Given the description of an element on the screen output the (x, y) to click on. 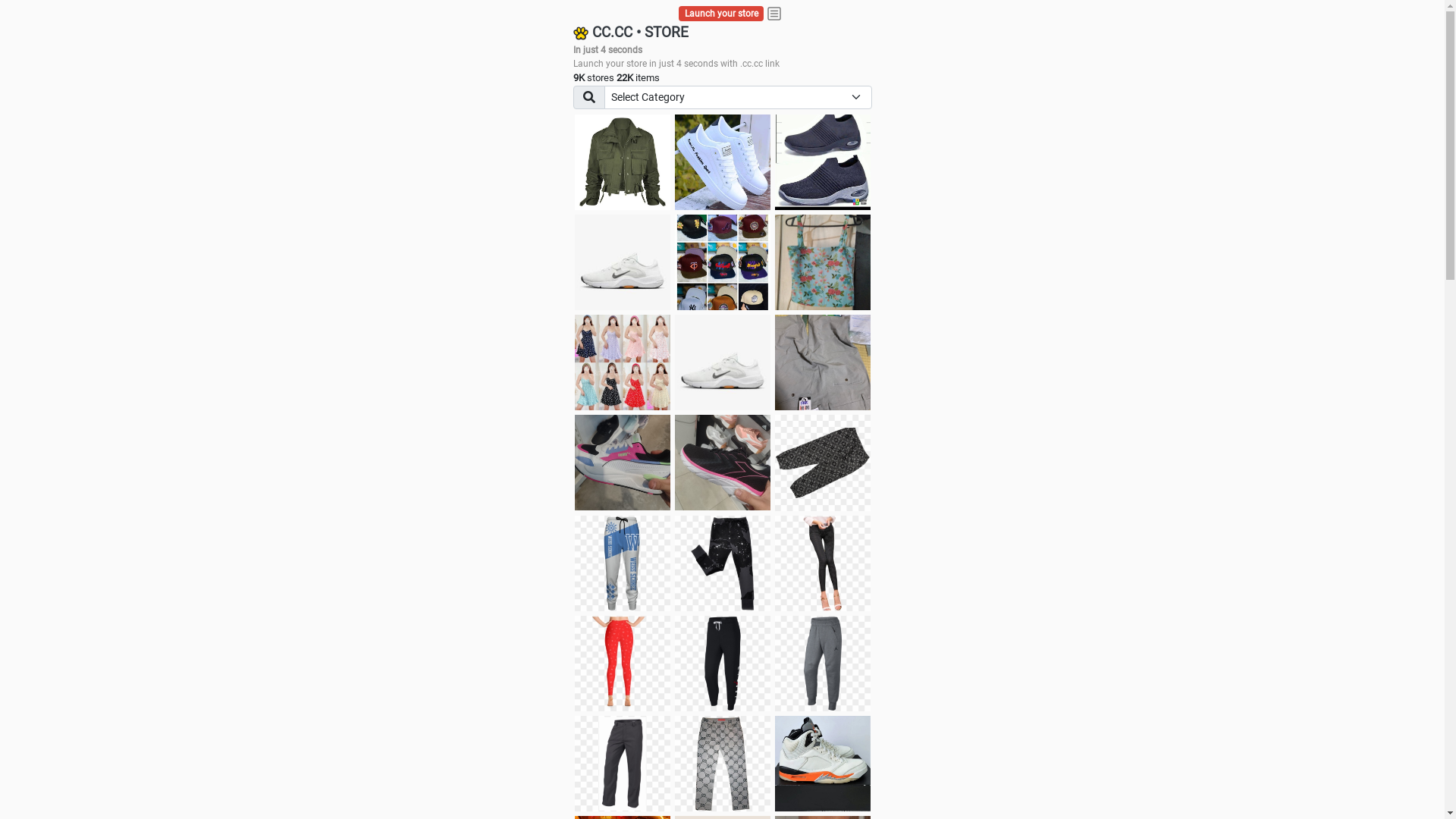
shoes for boys Element type: hover (822, 162)
Shoes for boys Element type: hover (622, 262)
Pant Element type: hover (822, 663)
Short pant Element type: hover (822, 462)
Pant Element type: hover (622, 663)
Shoes Element type: hover (722, 362)
Things we need Element type: hover (722, 262)
jacket Element type: hover (622, 162)
Pant Element type: hover (722, 763)
white shoes Element type: hover (722, 162)
Pant Element type: hover (722, 663)
Ukay cloth Element type: hover (822, 262)
Pant Element type: hover (822, 563)
Pant Element type: hover (722, 563)
Shoe Element type: hover (822, 763)
Dress/square nect top Element type: hover (622, 362)
Launch your store Element type: text (721, 13)
Pant Element type: hover (622, 563)
Pant Element type: hover (622, 763)
Zapatillas Element type: hover (722, 462)
Zapatillas pumas Element type: hover (622, 462)
